Given the description of an element on the screen output the (x, y) to click on. 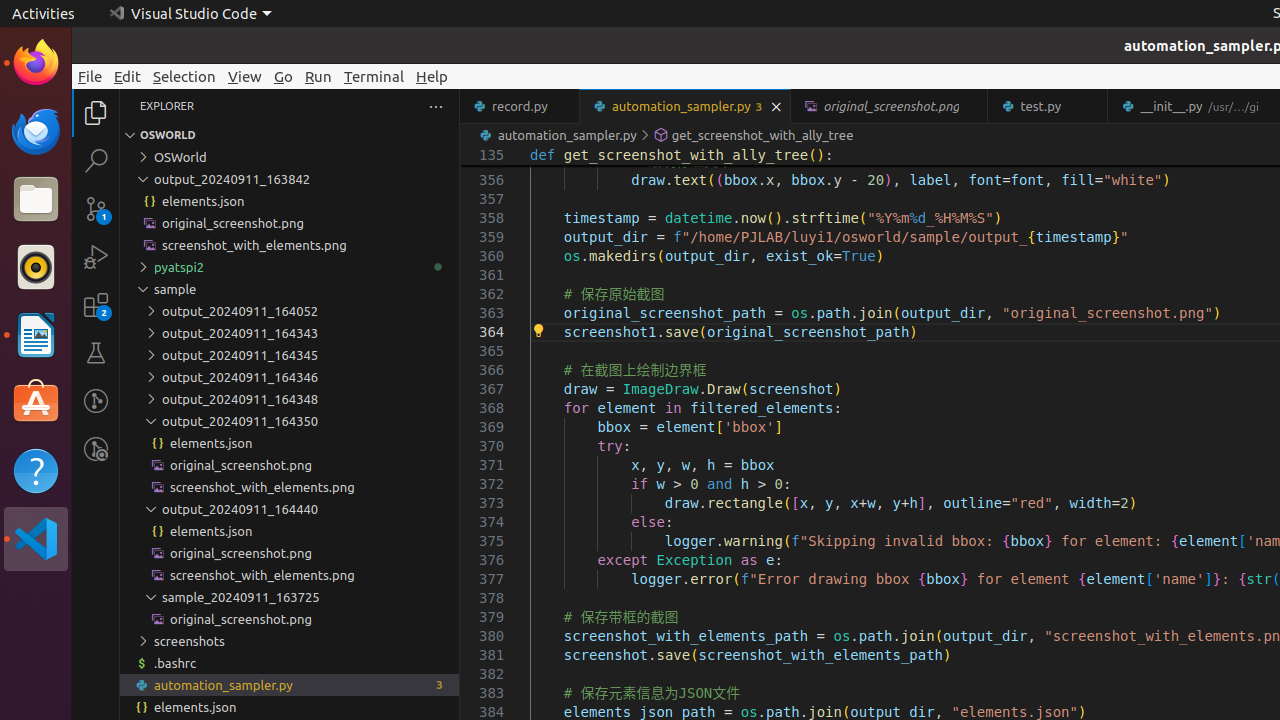
automation_sampler.py Element type: tree-item (289, 685)
Edit Element type: push-button (127, 76)
